Given the description of an element on the screen output the (x, y) to click on. 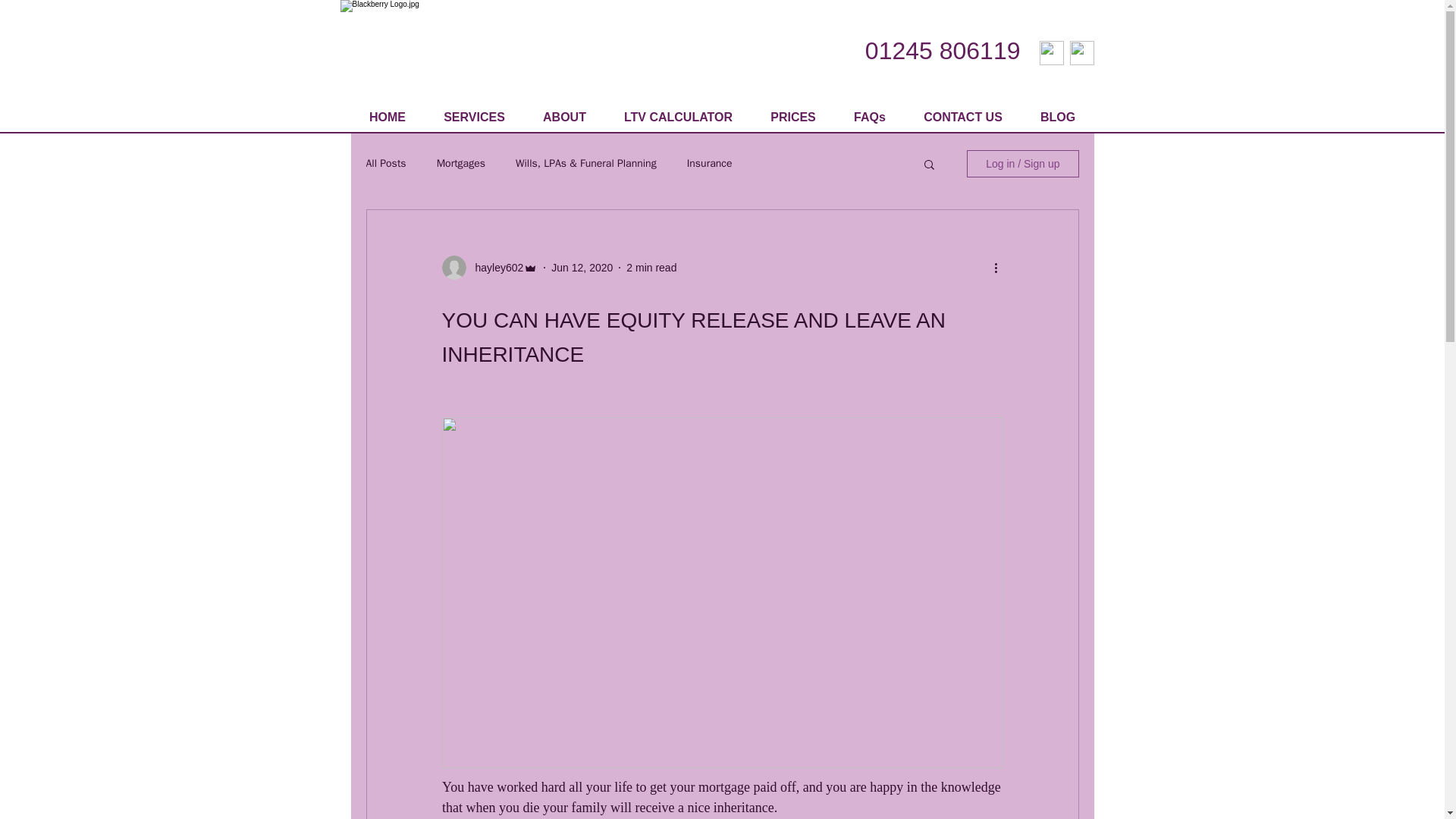
SERVICES (474, 116)
ABOUT (563, 116)
BLOG (1056, 116)
hayley602 (493, 267)
FAQs (869, 116)
CONTACT US (962, 116)
Mortgages (460, 163)
LTV CALCULATOR (678, 116)
01245 806119 (942, 50)
Jun 12, 2020 (581, 266)
